Given the description of an element on the screen output the (x, y) to click on. 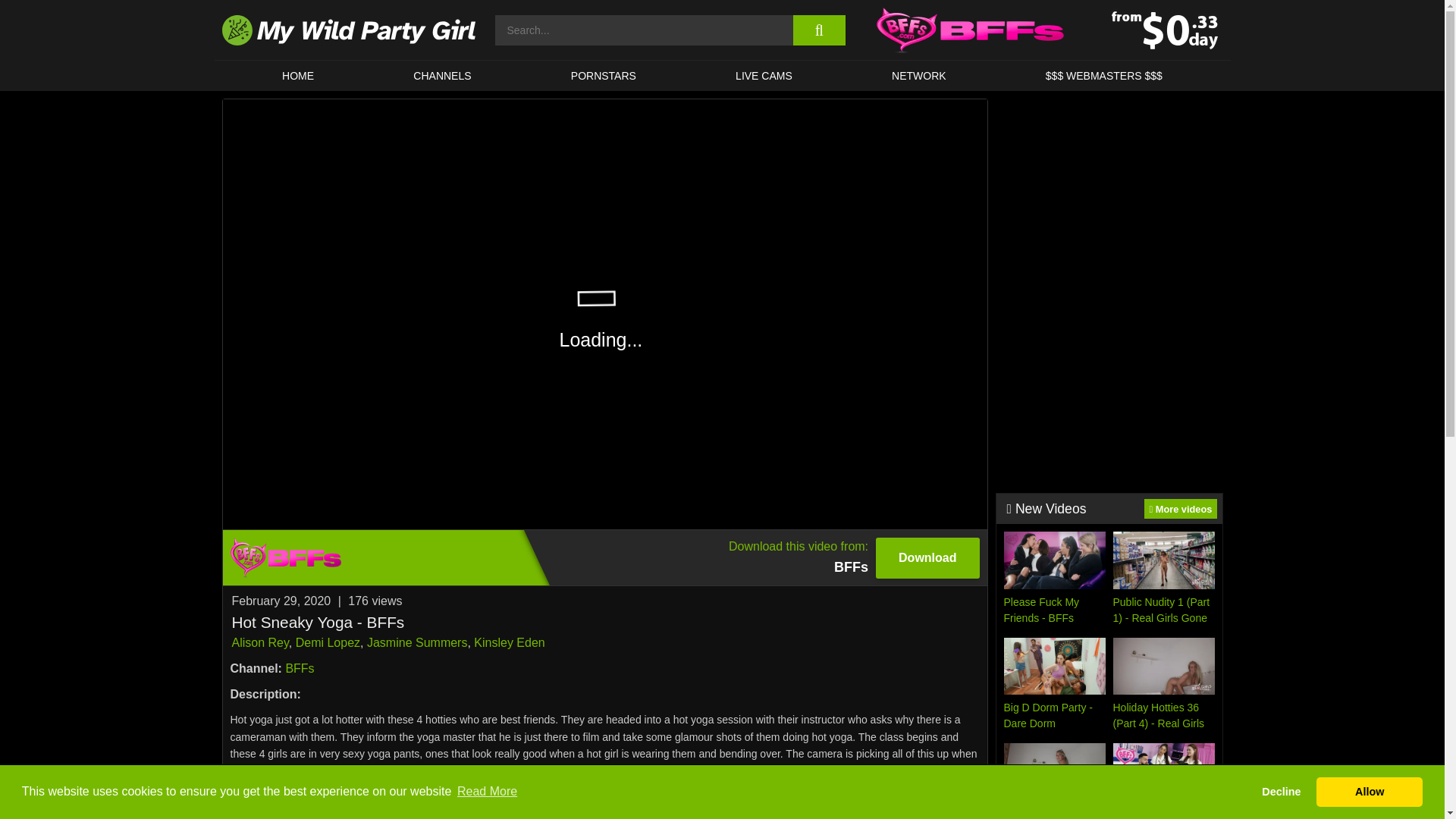
PORNSTARS (603, 75)
BFFs (299, 667)
Alison Rey (259, 642)
Play Video (604, 313)
HOME (296, 75)
LIVE CAMS (763, 75)
Demi Lopez (327, 642)
Jasmine Summers (416, 642)
Kinsley Eden (509, 642)
CHANNELS (442, 75)
NETWORK (918, 75)
Play Video (604, 557)
